Given the description of an element on the screen output the (x, y) to click on. 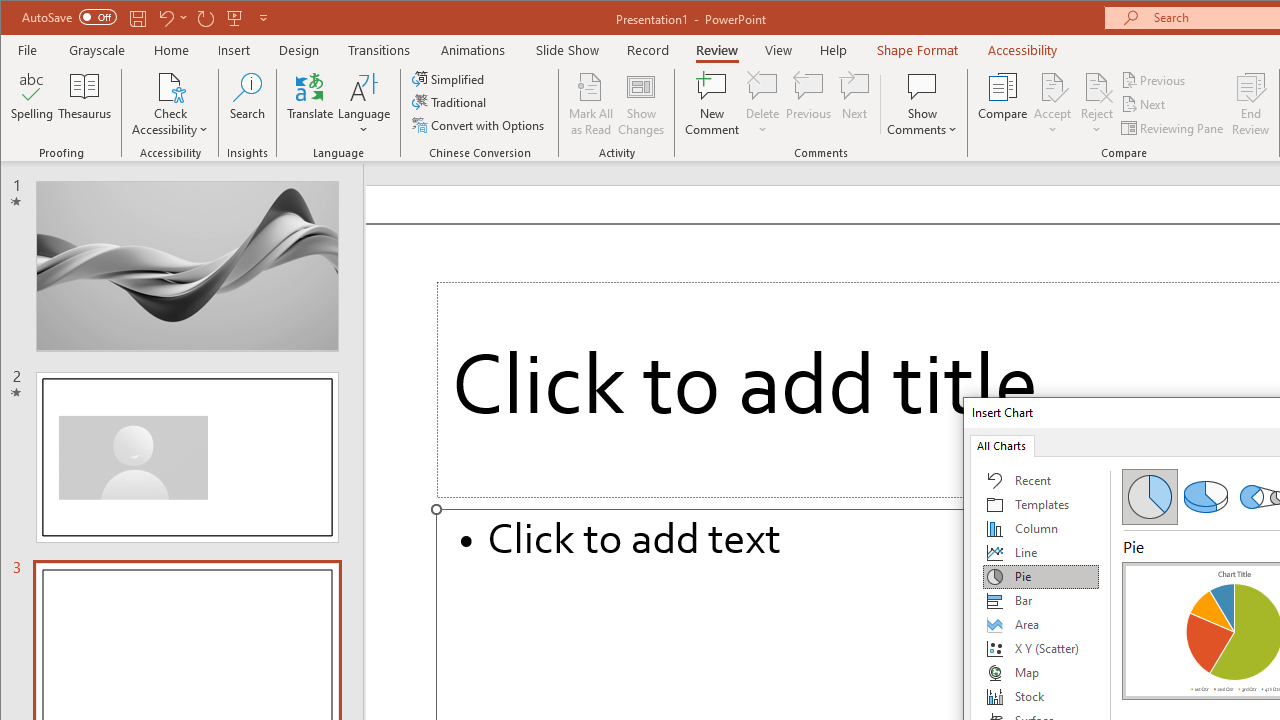
Reject Change (1096, 86)
X Y (Scatter) (1041, 648)
Templates (1041, 504)
Delete (762, 86)
End Review (1251, 104)
Shape Format (916, 50)
Delete (762, 104)
Stock (1041, 696)
Mark All as Read (591, 104)
New Comment (712, 104)
Pie (1149, 496)
